Given the description of an element on the screen output the (x, y) to click on. 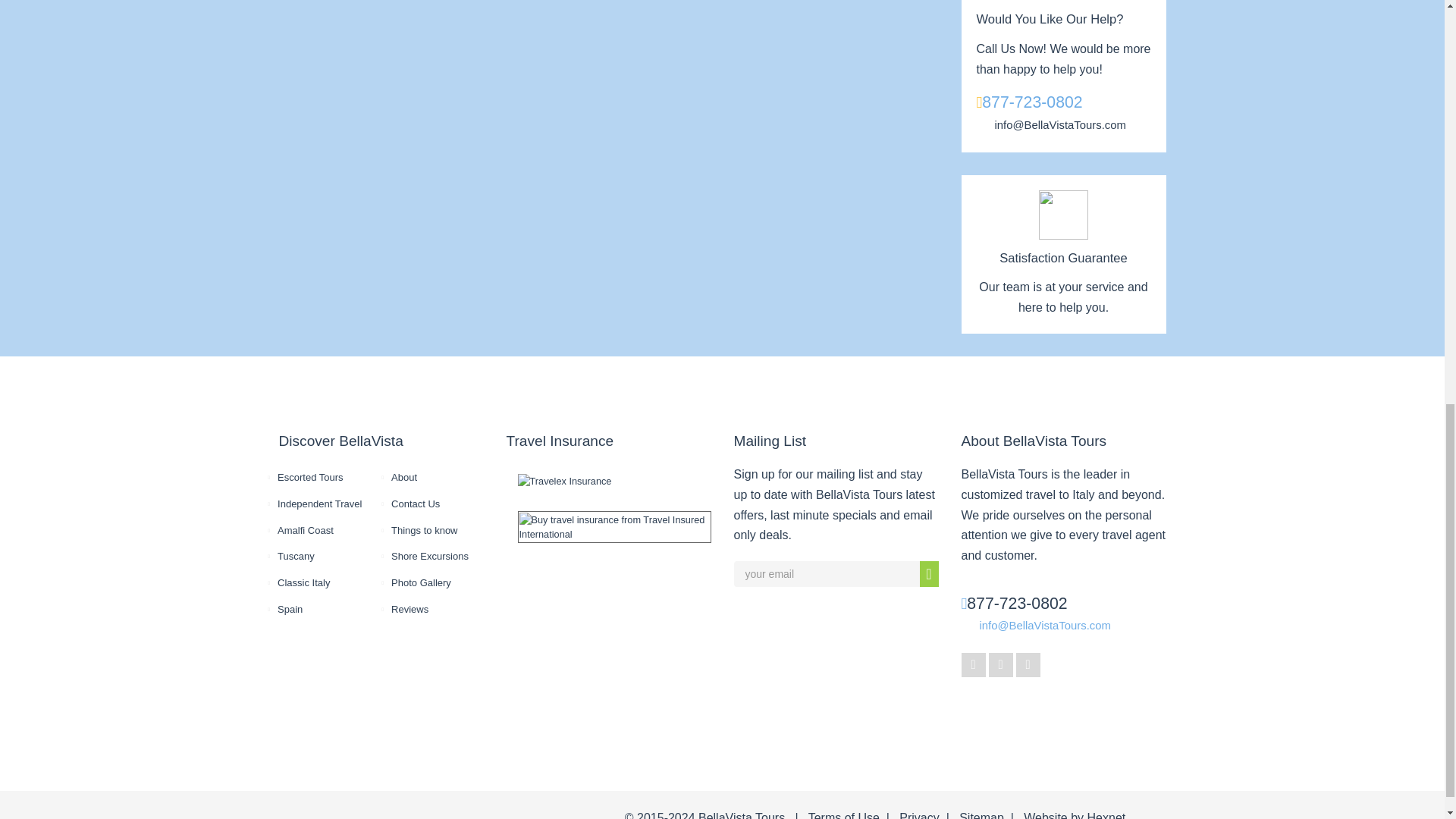
facebook (972, 664)
twitter (1000, 664)
BellaVista Tours - home (331, 806)
linkedin (1028, 664)
Website Design and Development by Hexnet Digital Marketing (1106, 815)
